Given the description of an element on the screen output the (x, y) to click on. 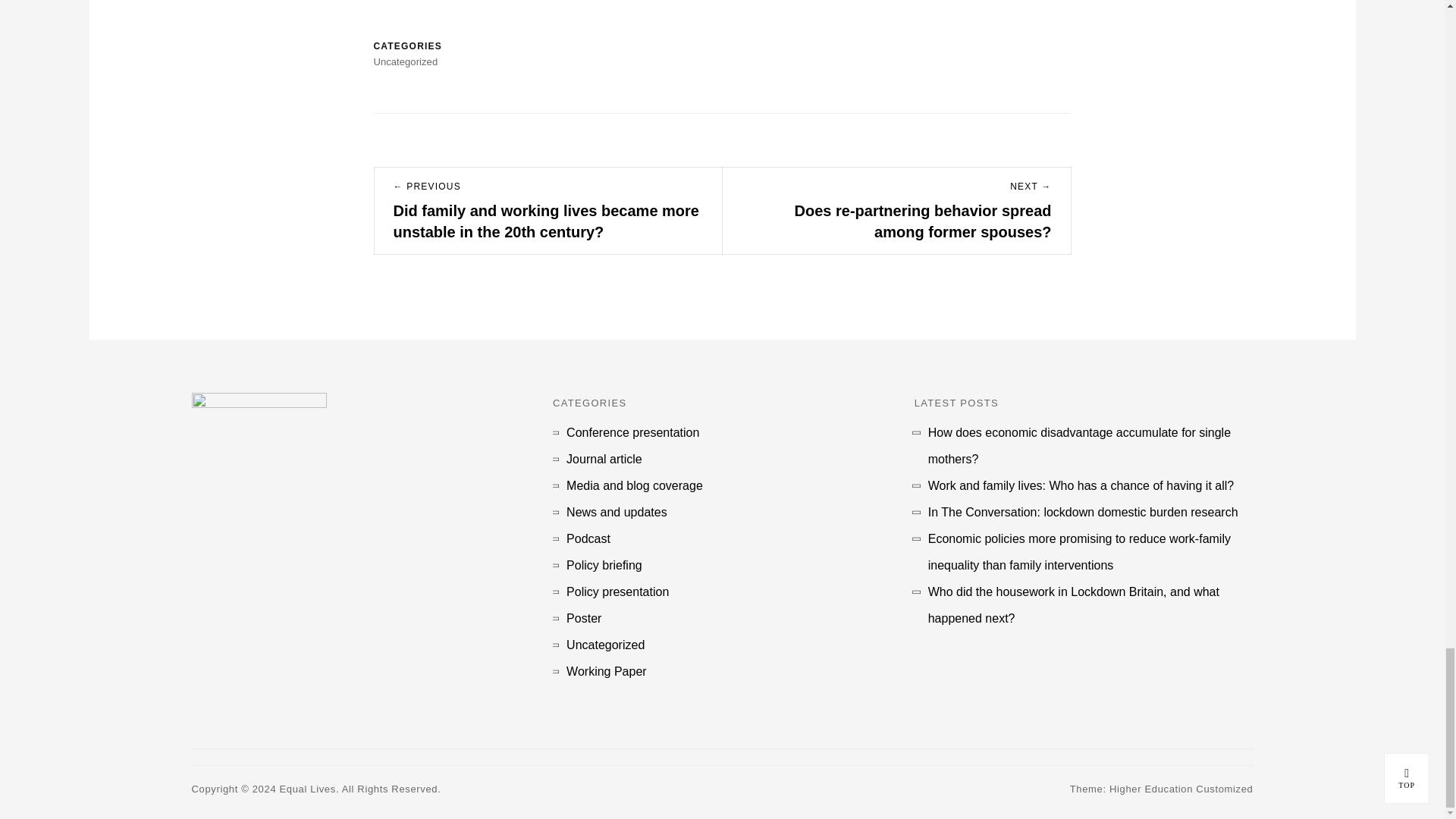
Conference presentation (632, 432)
Journal article (604, 458)
Working Paper (606, 671)
In The Conversation: lockdown domestic burden research (1083, 512)
News and updates (616, 511)
Podcast (588, 538)
Higher Education Customized (1181, 788)
